Given the description of an element on the screen output the (x, y) to click on. 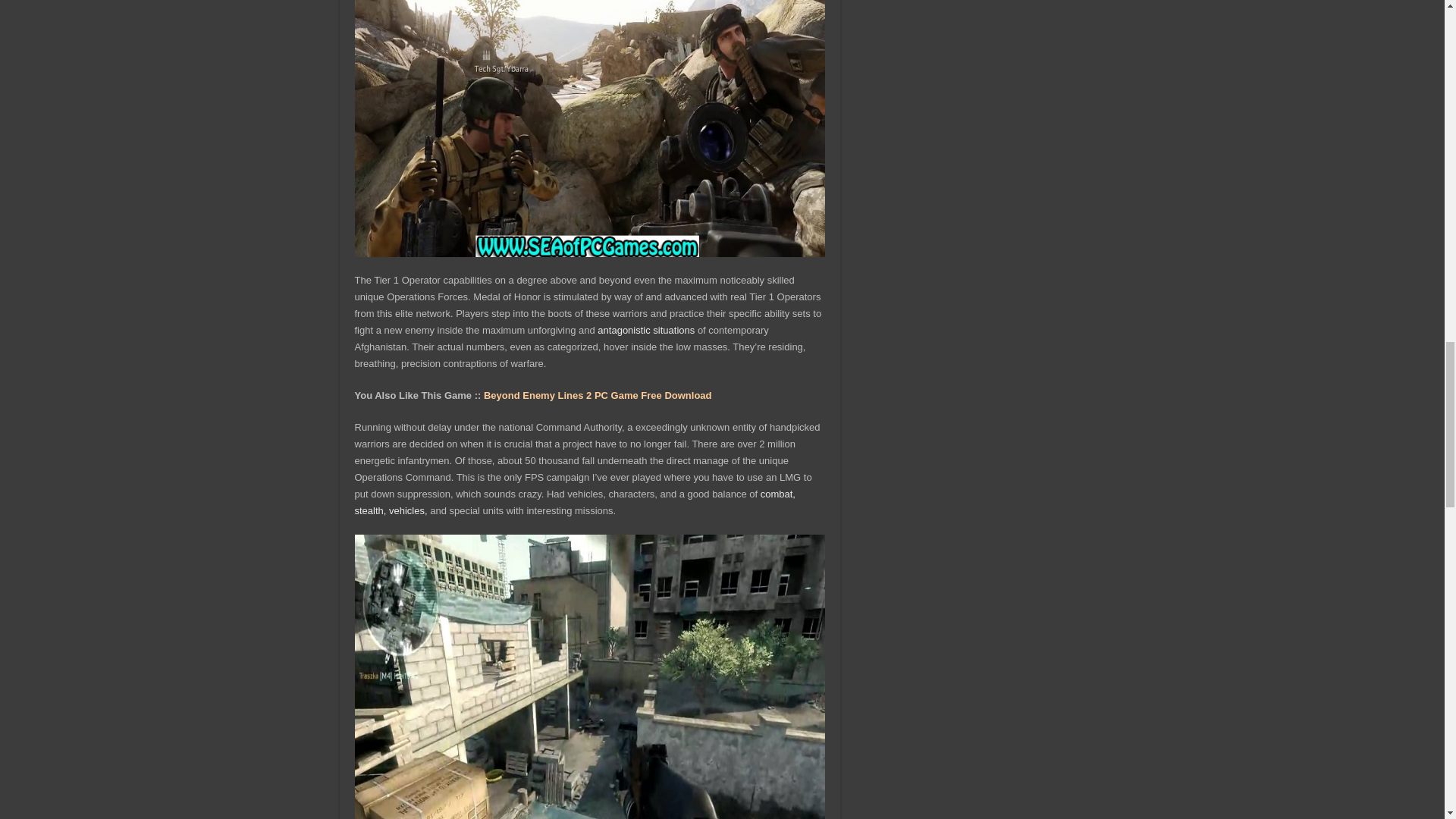
combat, stealth, vehicles, (574, 502)
Medal of Honor 2010 Torrent Game Highly Compressed (590, 676)
antagonistic situations (645, 329)
Medal of Honor 2010 Full Version Game Free For PC (590, 128)
Beyond Enemy Lines 2 PC Game Free Download (597, 395)
